Given the description of an element on the screen output the (x, y) to click on. 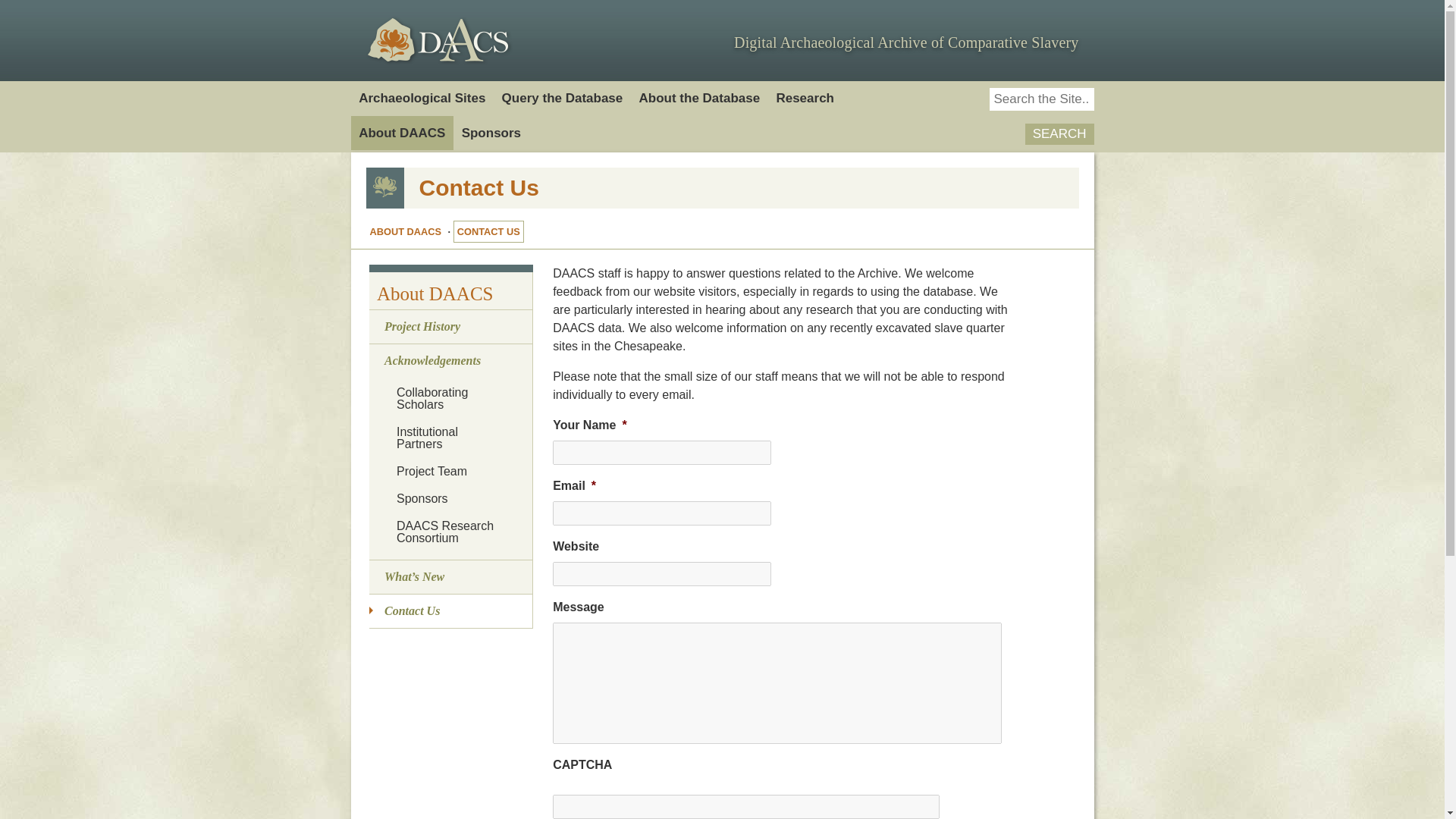
Research (805, 98)
DAACS Cataloging Manuals (706, 137)
Theses and Dissertations (843, 440)
DAACS Conversations Archives (844, 321)
Glossary (706, 312)
Project History (427, 162)
Summer Short Course 2021 (844, 185)
Database Structure (706, 243)
DAACS Color Data (706, 173)
Context Queries (569, 153)
